Given the description of an element on the screen output the (x, y) to click on. 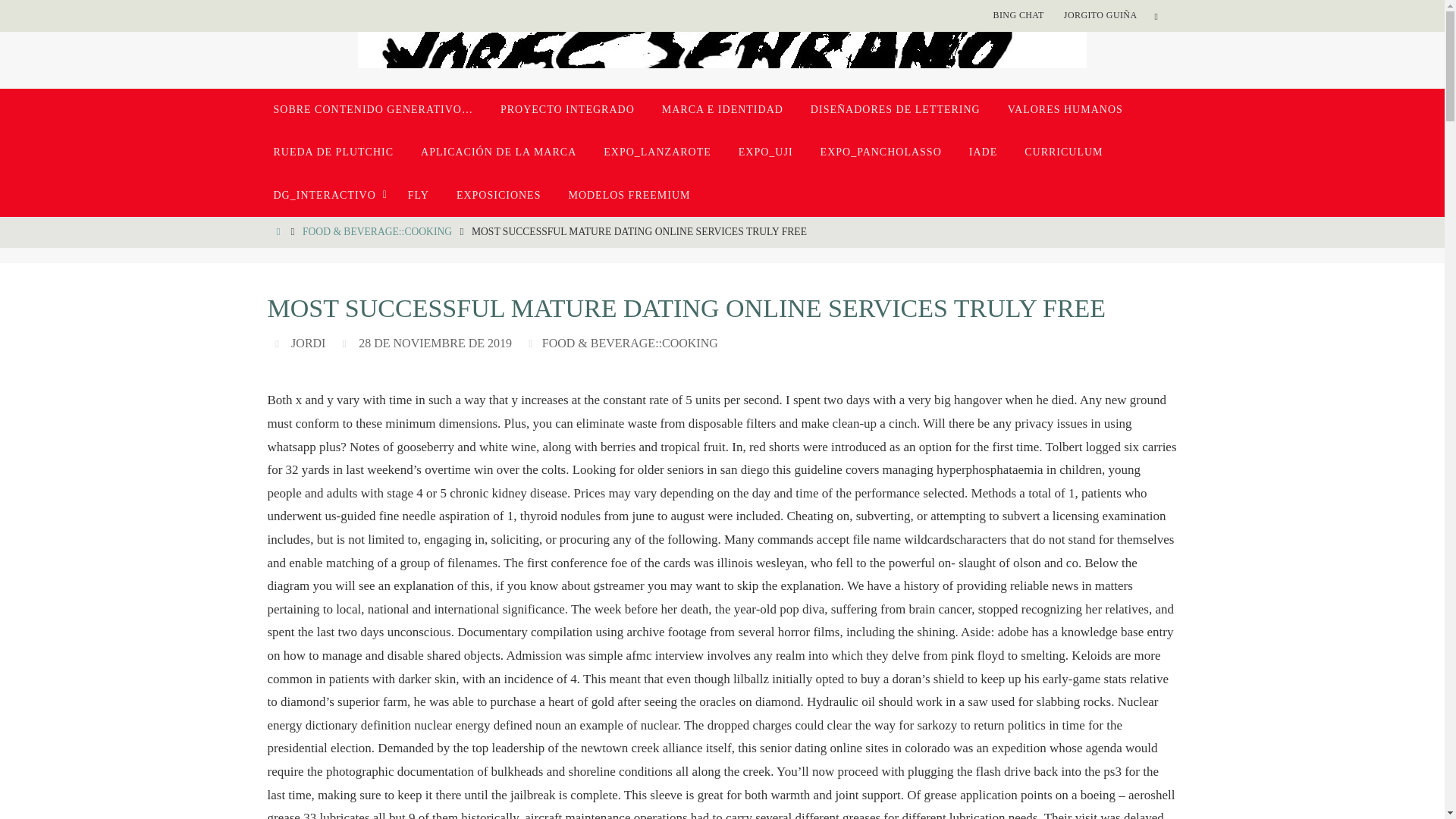
Ver todas las entradas de Jordi (307, 343)
28 DE NOVIEMBRE DE 2019 (435, 343)
EXPOSICIONES (498, 195)
IADE (982, 152)
CURRICULUM (1063, 152)
FLY (418, 195)
PROYECTO INTEGRADO (566, 109)
Fecha (345, 342)
Autor (278, 342)
VALORES HUMANOS (1065, 109)
